Given the description of an element on the screen output the (x, y) to click on. 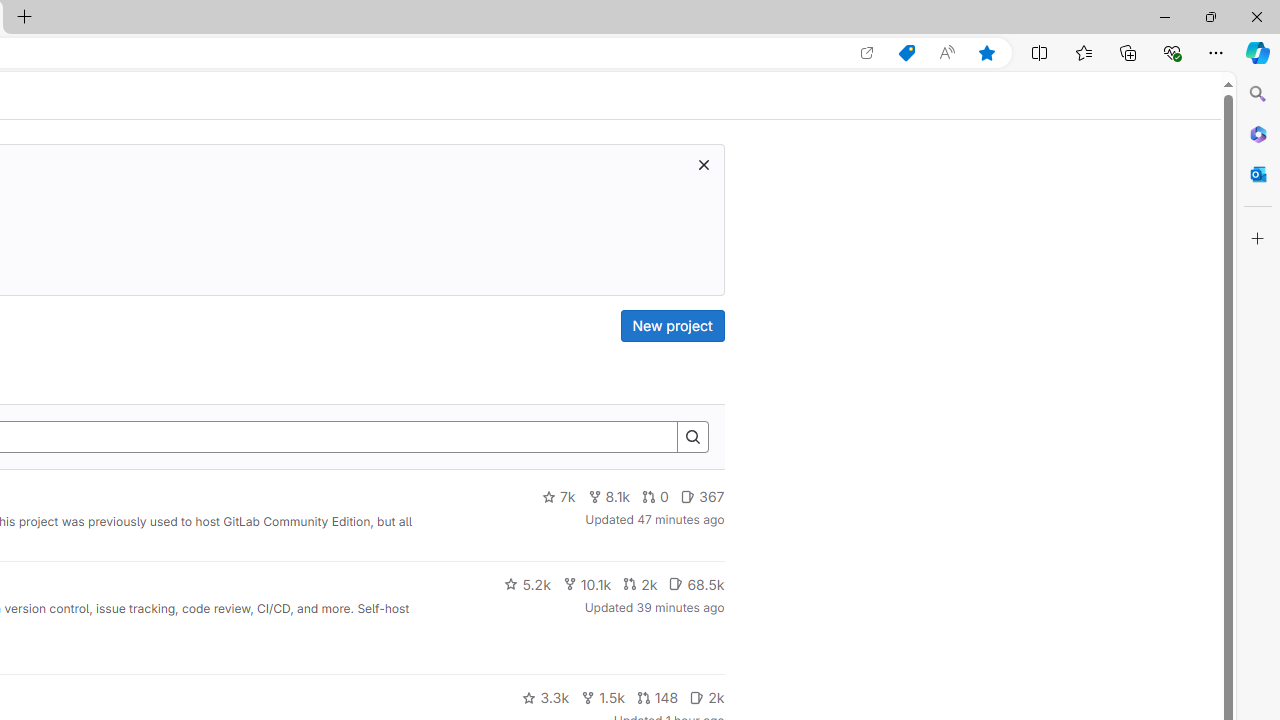
367 (701, 497)
Dismiss trial promotion (703, 164)
5.2k (527, 583)
